Given the description of an element on the screen output the (x, y) to click on. 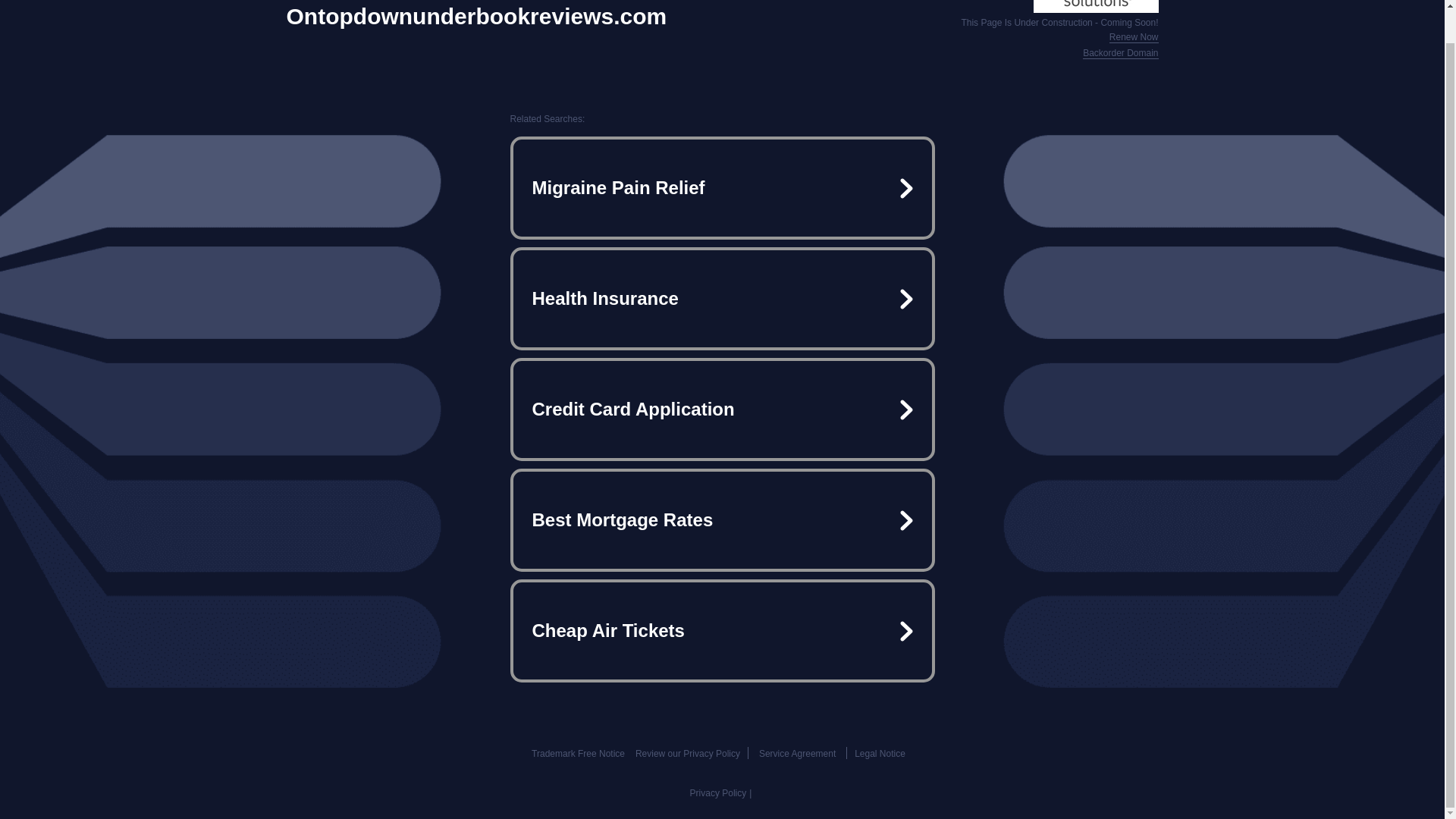
Migraine Pain Relief (721, 187)
Review our Privacy Policy (686, 753)
Renew Now (1133, 37)
Credit Card Application (721, 409)
Legal Notice (879, 753)
Health Insurance (721, 298)
Service Agreement (796, 753)
Privacy Policy (718, 792)
Credit Card Application (721, 409)
Best Mortgage Rates (721, 519)
